Given the description of an element on the screen output the (x, y) to click on. 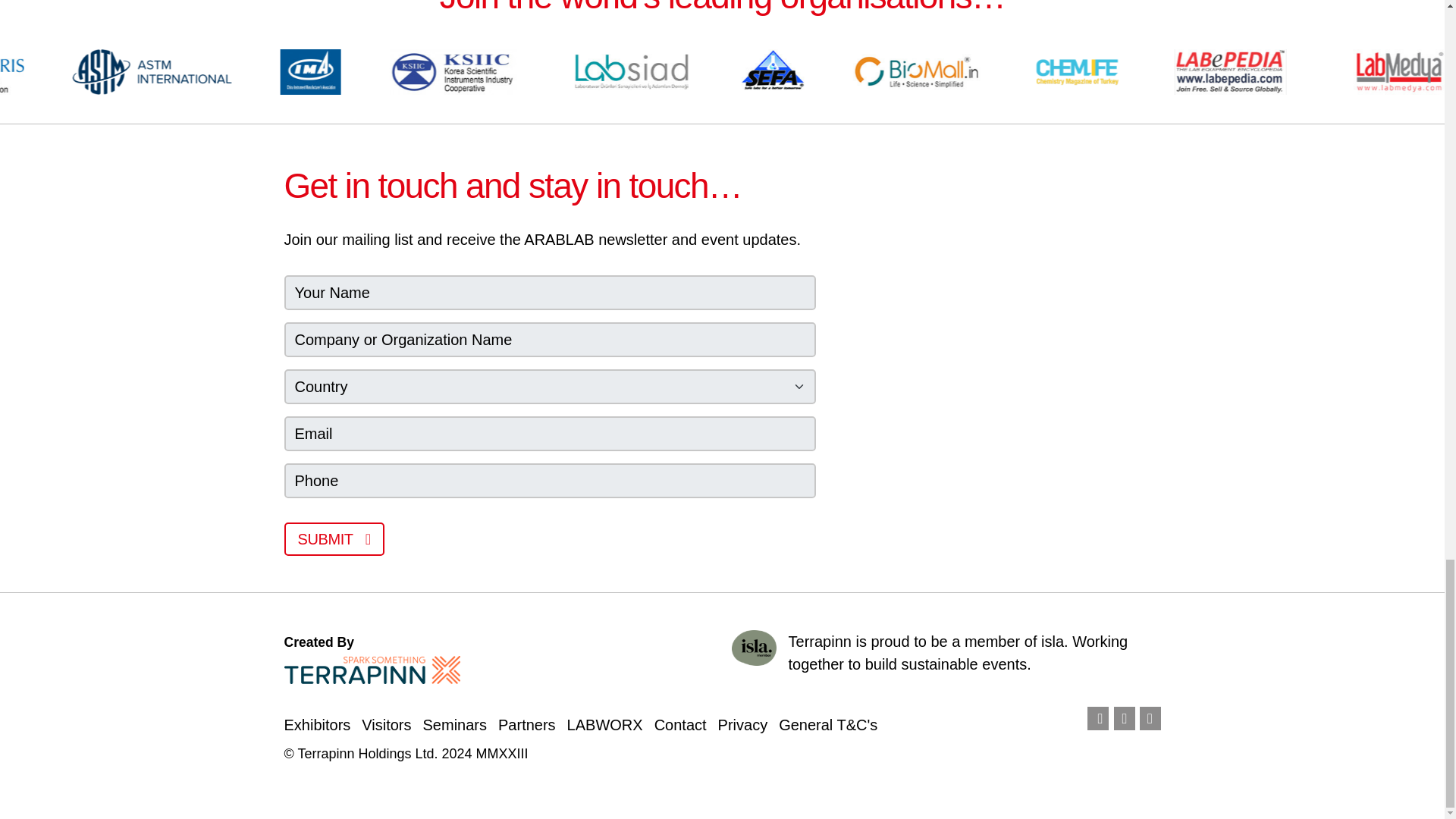
x (1149, 718)
linkedin (1124, 718)
facebook (1097, 718)
